Given the description of an element on the screen output the (x, y) to click on. 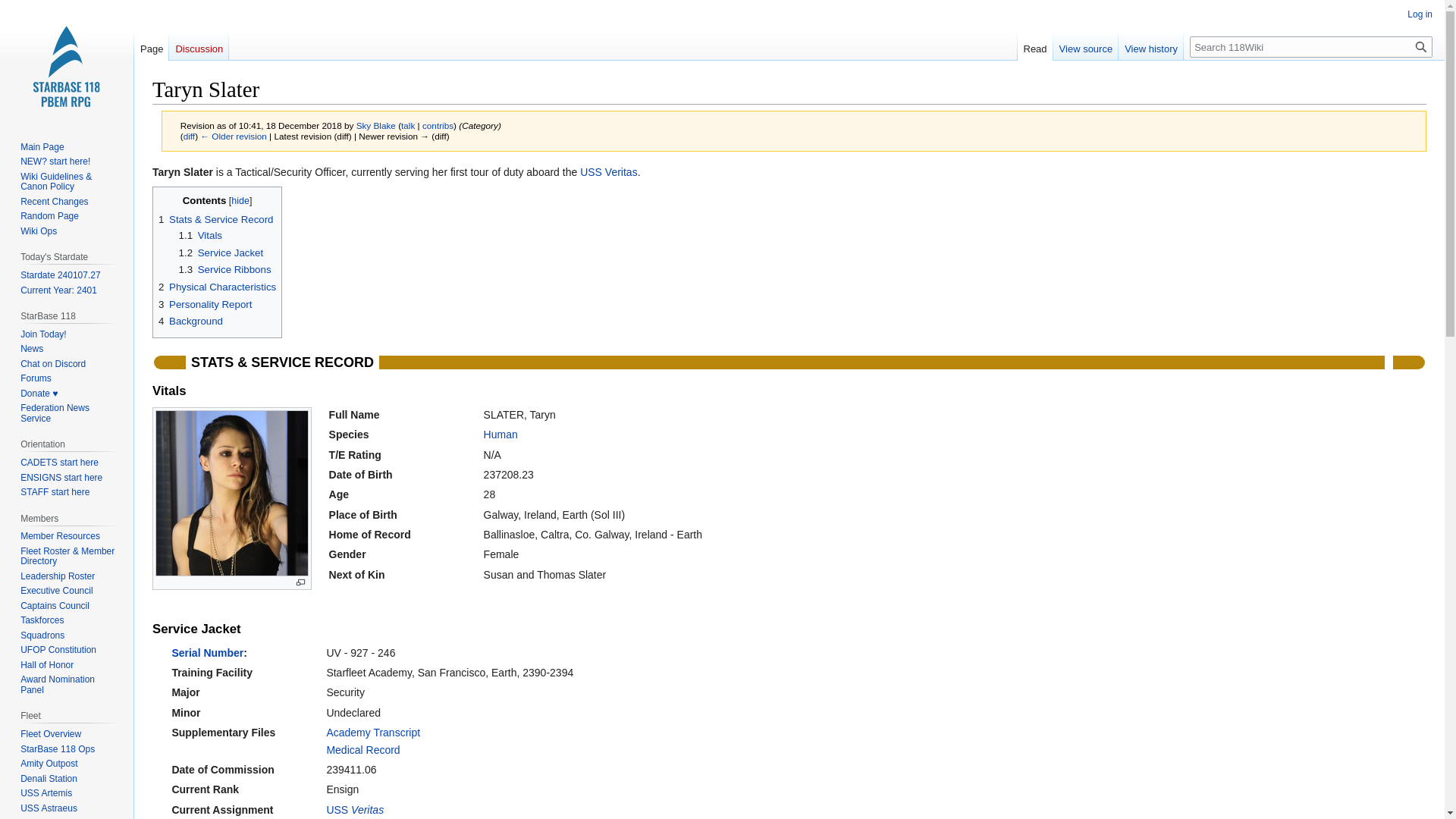
USS Veritas (355, 809)
USS Veritas (608, 172)
USS Veritas (355, 809)
3 Personality Report (204, 304)
1.1 Vitals (200, 235)
1.3 Service Ribbons (224, 269)
User:Sky Blake (376, 125)
Search (1420, 46)
talk (407, 125)
2 Physical Characteristics (217, 286)
Sky Blake (376, 125)
Taryn Slater (189, 135)
Human (500, 434)
Serial Number (207, 653)
